Given the description of an element on the screen output the (x, y) to click on. 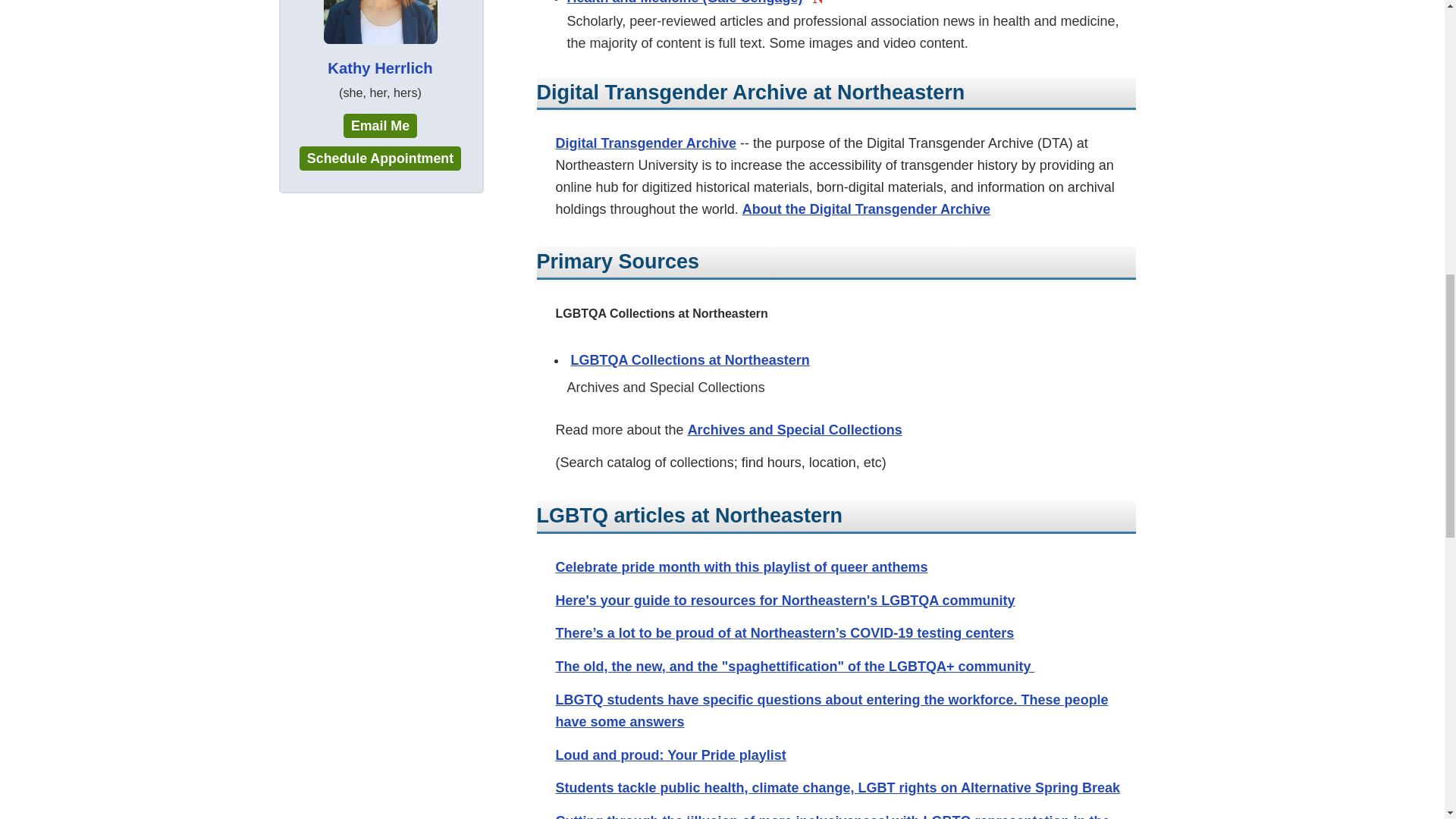
Email Me (379, 125)
Kathy Herrlich (379, 41)
